Given the description of an element on the screen output the (x, y) to click on. 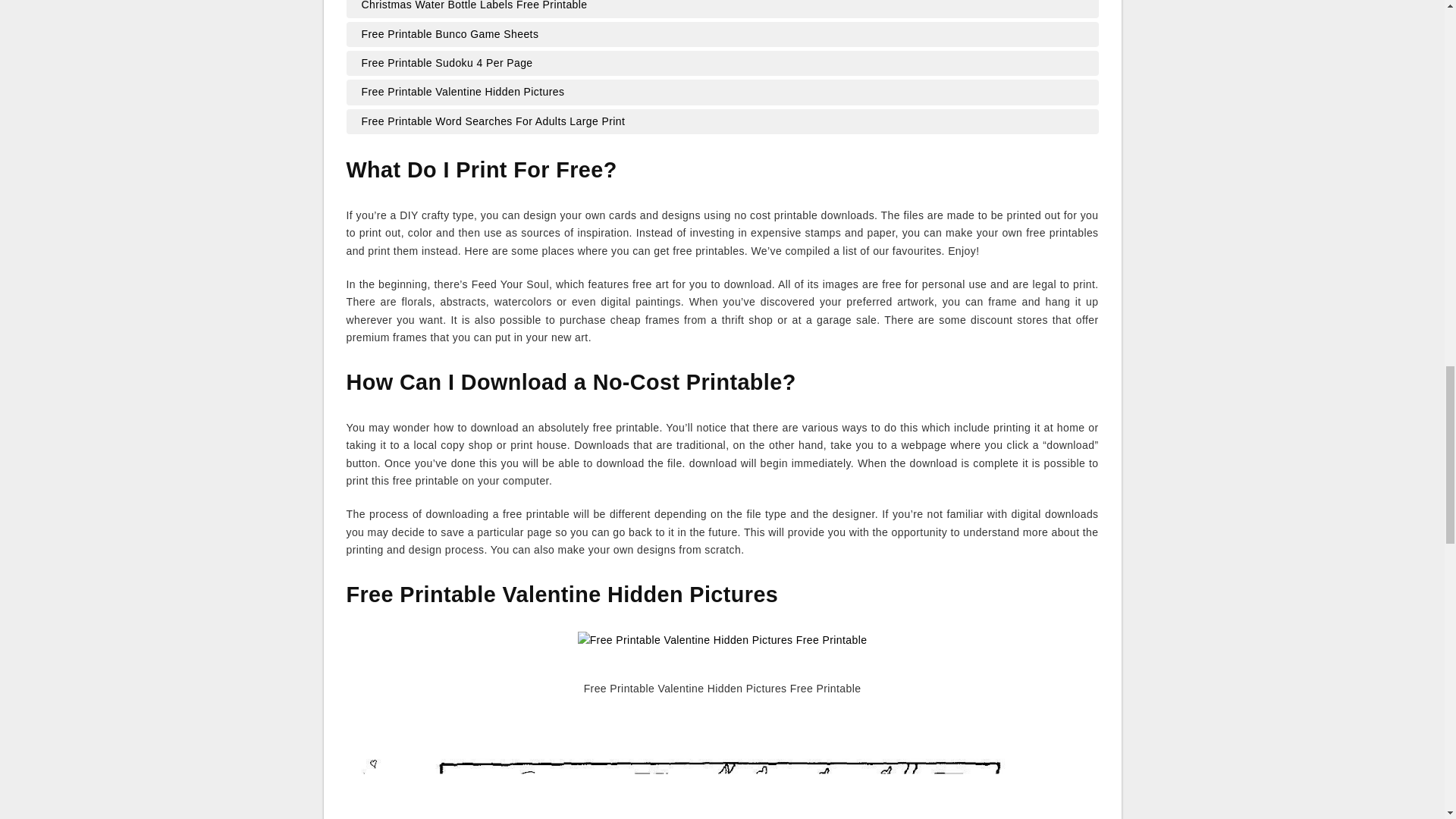
Free Printable Bunco Game Sheets (721, 34)
Free Printable Sudoku 4 Per Page (721, 63)
Free Printable Valentine Hidden Pictures (721, 91)
Christmas Water Bottle Labels Free Printable (721, 7)
free printable valentine hidden pictures free printable 1 (721, 766)
Free Printable Word Searches For Adults Large Print (721, 121)
free printable valentine hidden pictures free printable (722, 647)
